Given the description of an element on the screen output the (x, y) to click on. 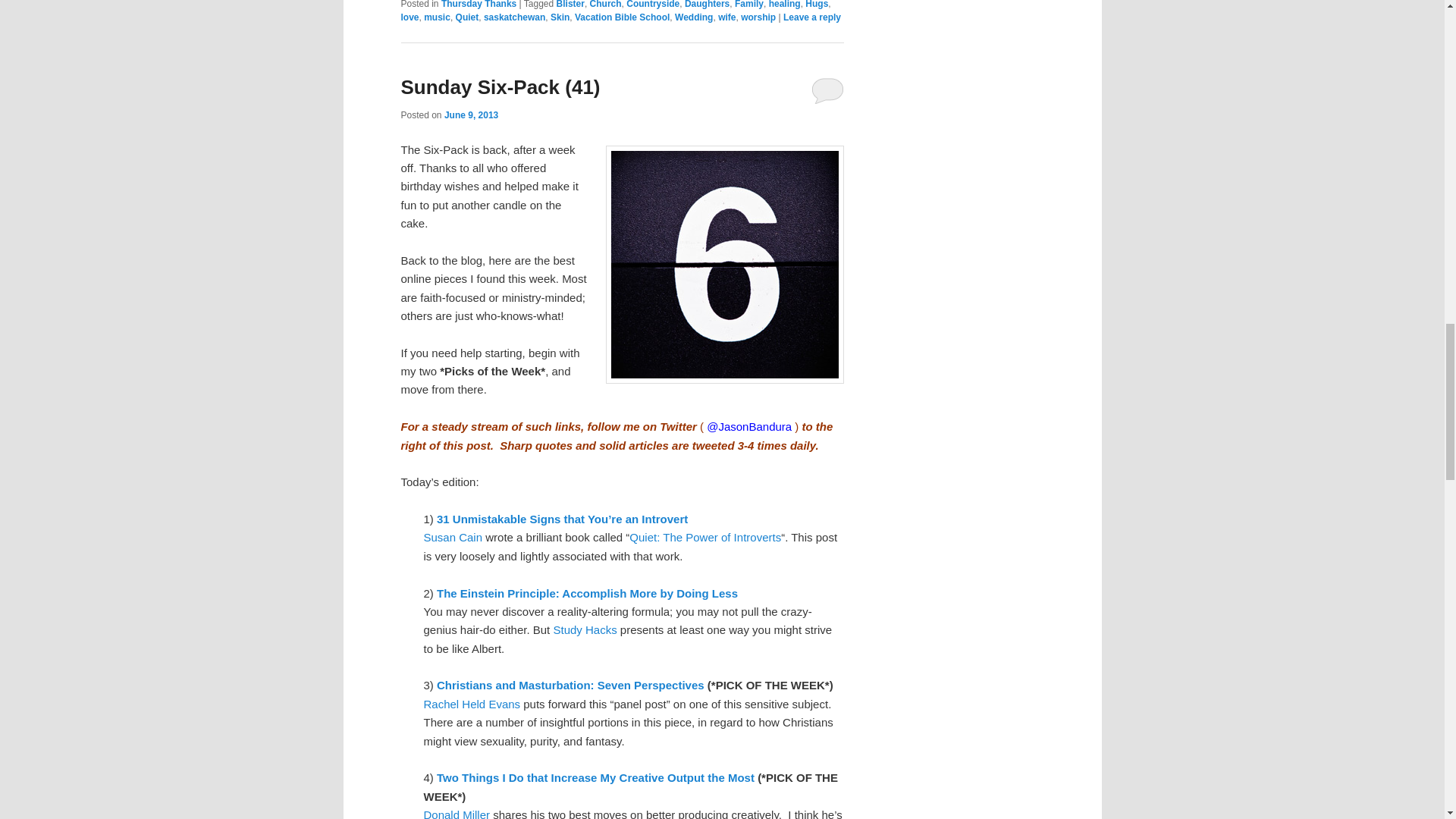
Countryside (652, 4)
number six (724, 264)
2:50 pm (470, 114)
Daughters (706, 4)
Thursday Thanks (478, 4)
Family (748, 4)
Church (605, 4)
Blister (570, 4)
